Given the description of an element on the screen output the (x, y) to click on. 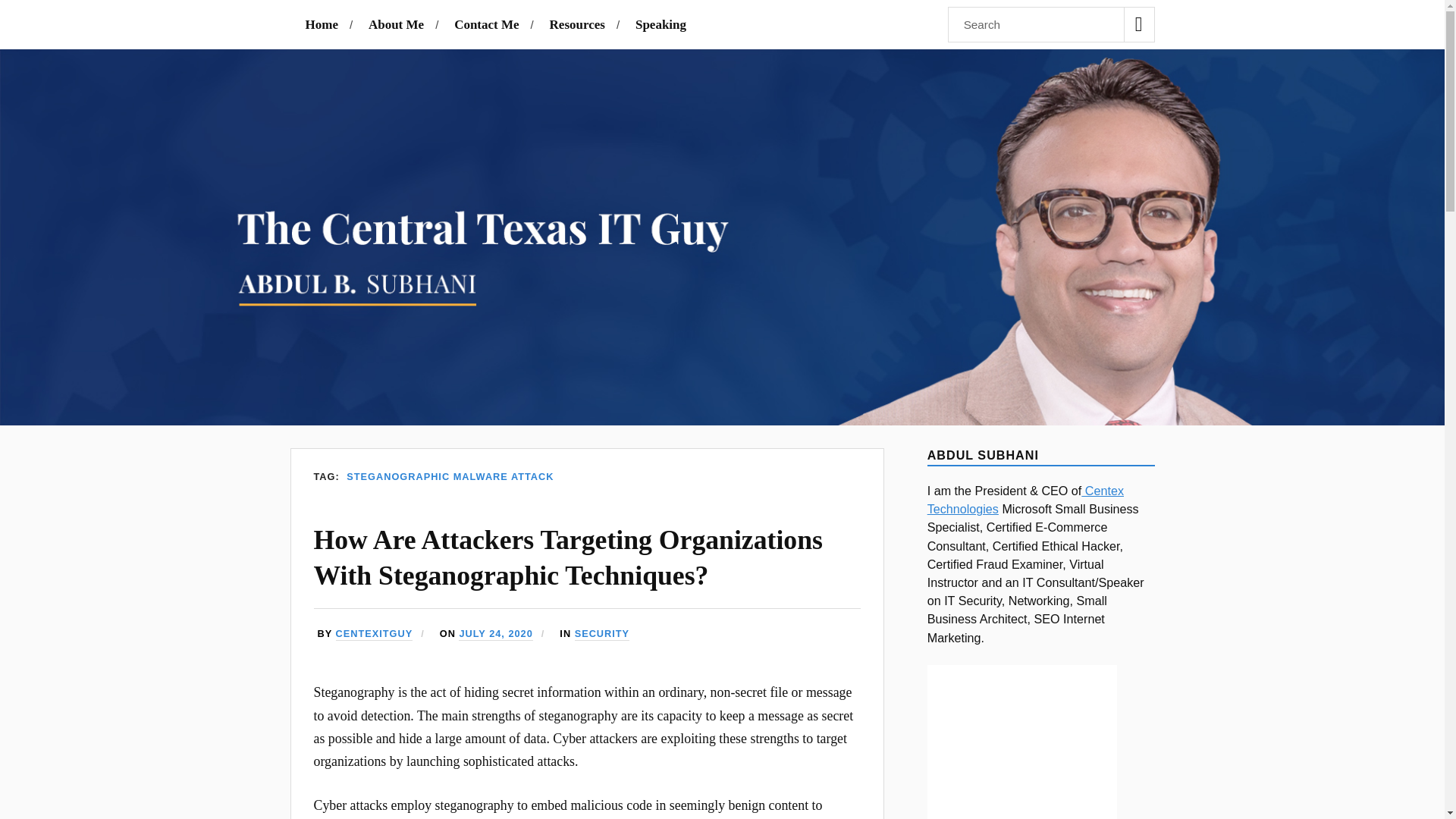
Posts by centexitguy (374, 634)
About Me (395, 24)
Contact Me (486, 24)
Speaking (659, 24)
Resources (577, 24)
Centex Technologies (1025, 499)
CENTEXITGUY (374, 634)
SECURITY (601, 634)
JULY 24, 2020 (495, 634)
